Given the description of an element on the screen output the (x, y) to click on. 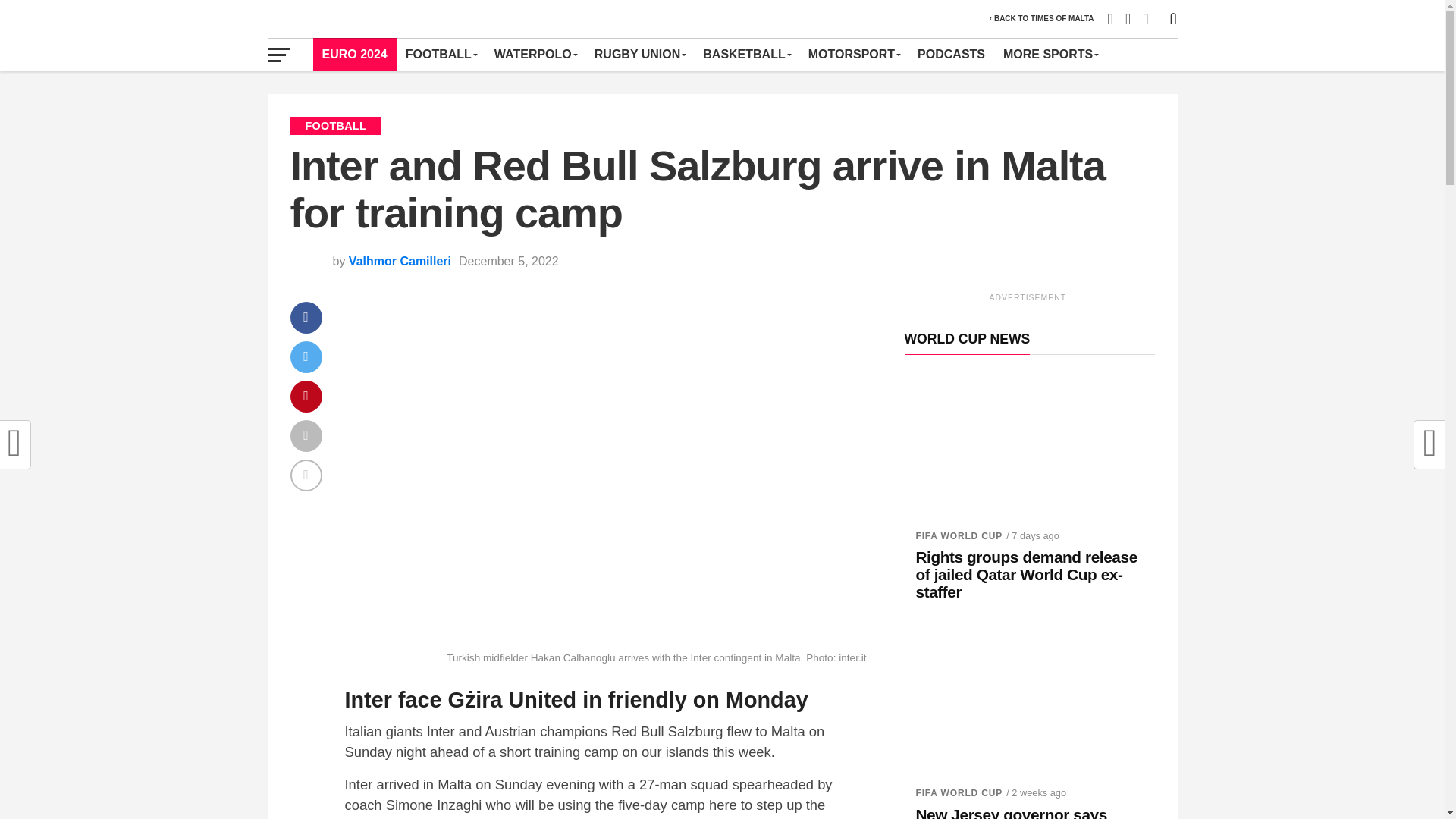
Posts by Valhmor Camilleri (400, 260)
